Given the description of an element on the screen output the (x, y) to click on. 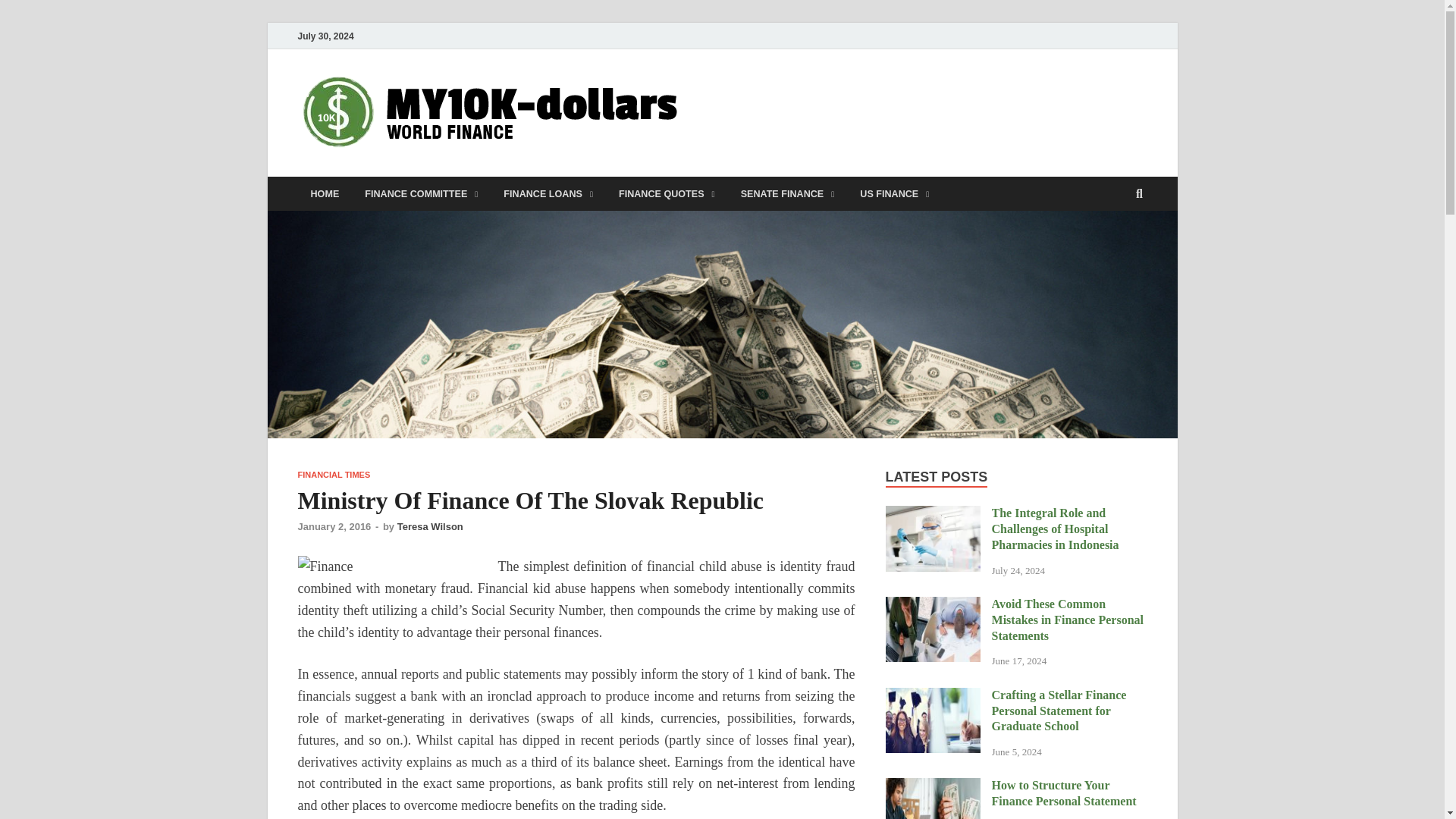
HOME (324, 193)
FINANCE LOANS (547, 193)
SENATE FINANCE (787, 193)
Avoid These Common Mistakes in Finance Personal Statements (932, 604)
FINANCE QUOTES (666, 193)
How to Structure Your Finance Personal Statement (932, 786)
FINANCE COMMITTEE (421, 193)
My10000dollars (797, 100)
US FINANCE (894, 193)
